Given the description of an element on the screen output the (x, y) to click on. 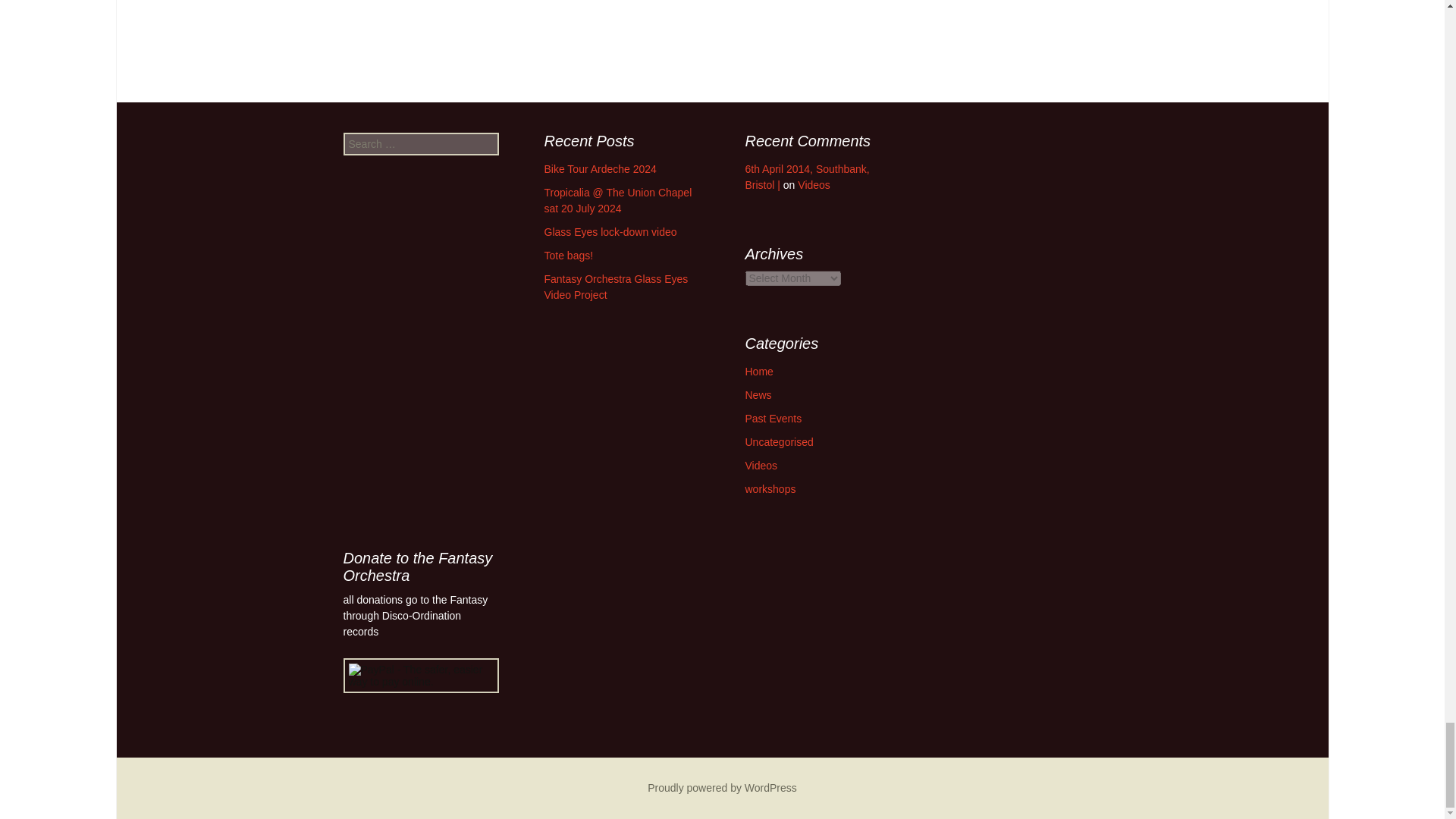
News (757, 395)
Videos (760, 465)
Uncategorised (778, 441)
Tote bags! (569, 255)
Proudly powered by WordPress (721, 787)
Bike Tour Ardeche 2024 (600, 168)
Videos (813, 184)
Past Events (773, 418)
workshops (769, 489)
Fantasy Orchestra Glass Eyes Video Project (616, 286)
Home (758, 371)
Glass Eyes lock-down video (610, 232)
